Given the description of an element on the screen output the (x, y) to click on. 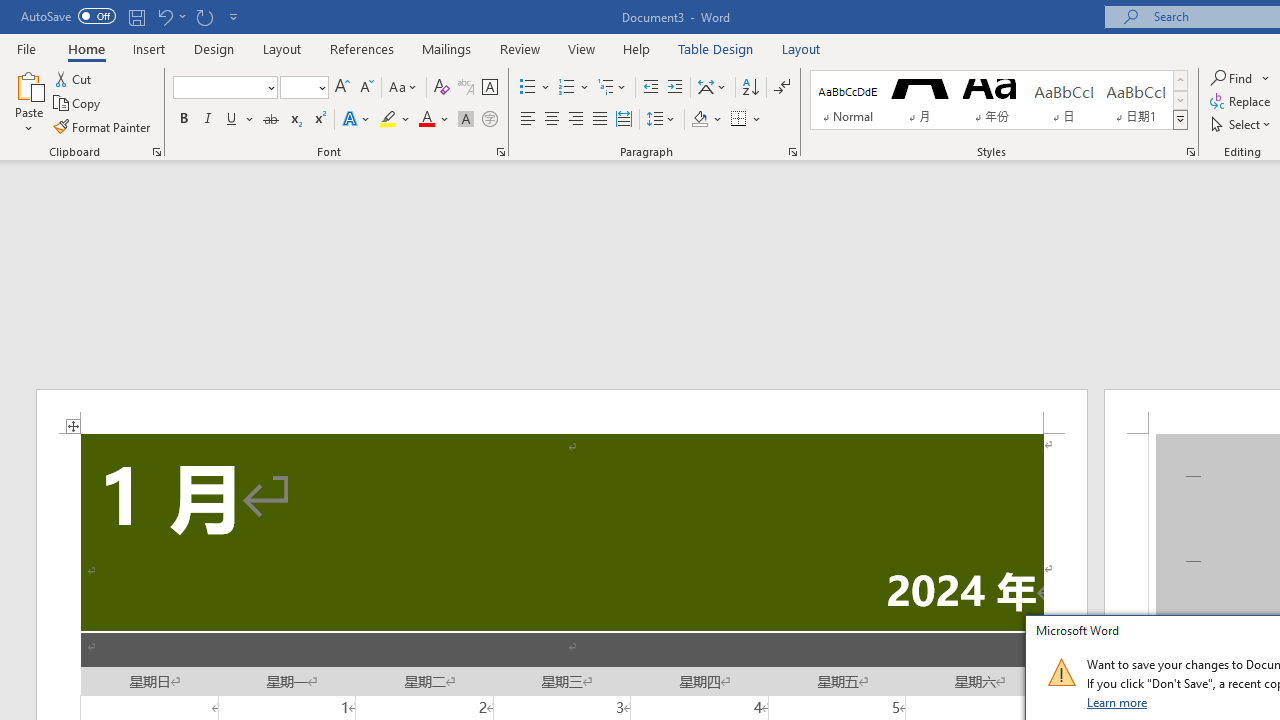
Learn more (1118, 702)
